Given the description of an element on the screen output the (x, y) to click on. 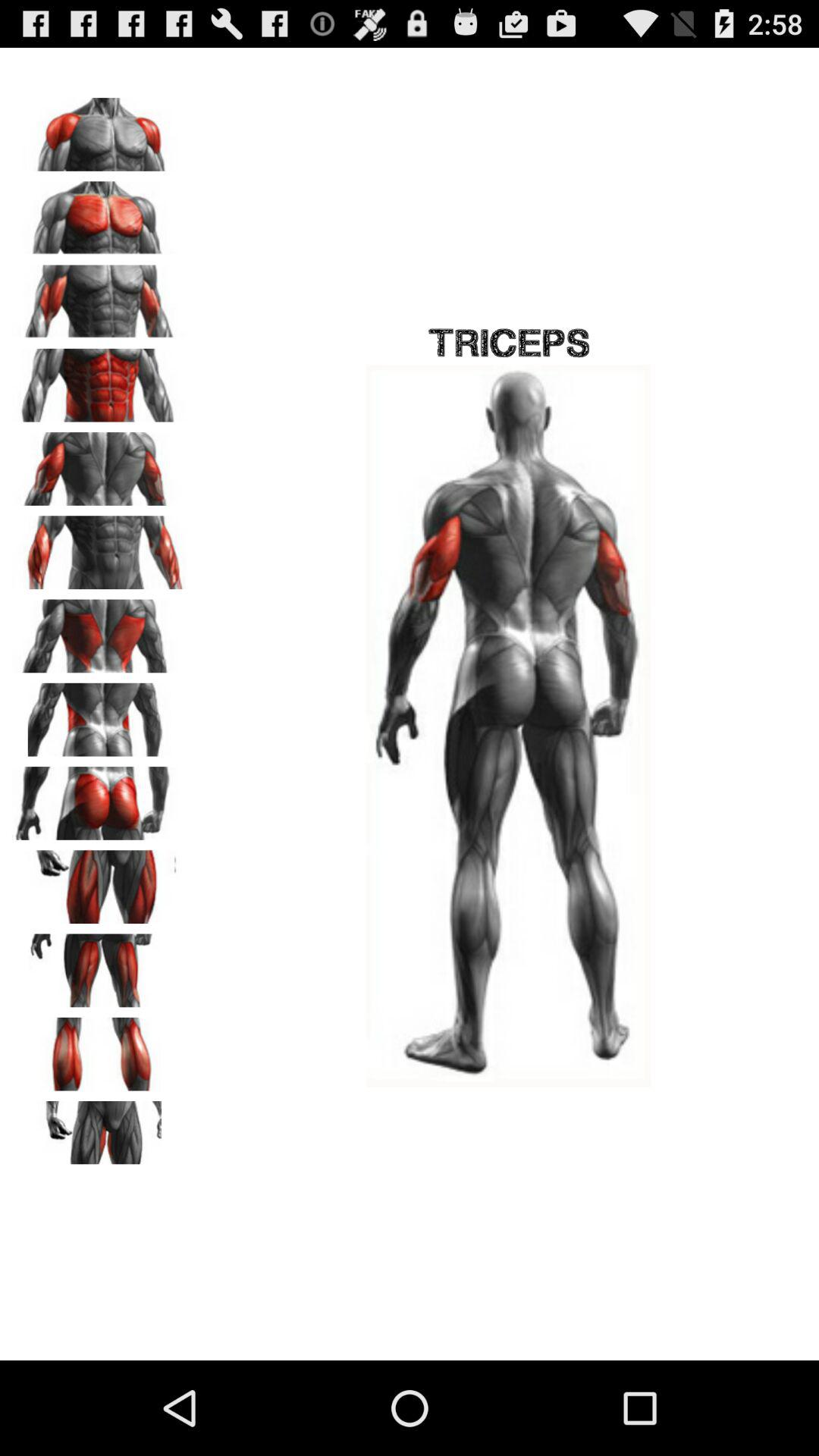
image that can change the view of the main image on the right (99, 463)
